Given the description of an element on the screen output the (x, y) to click on. 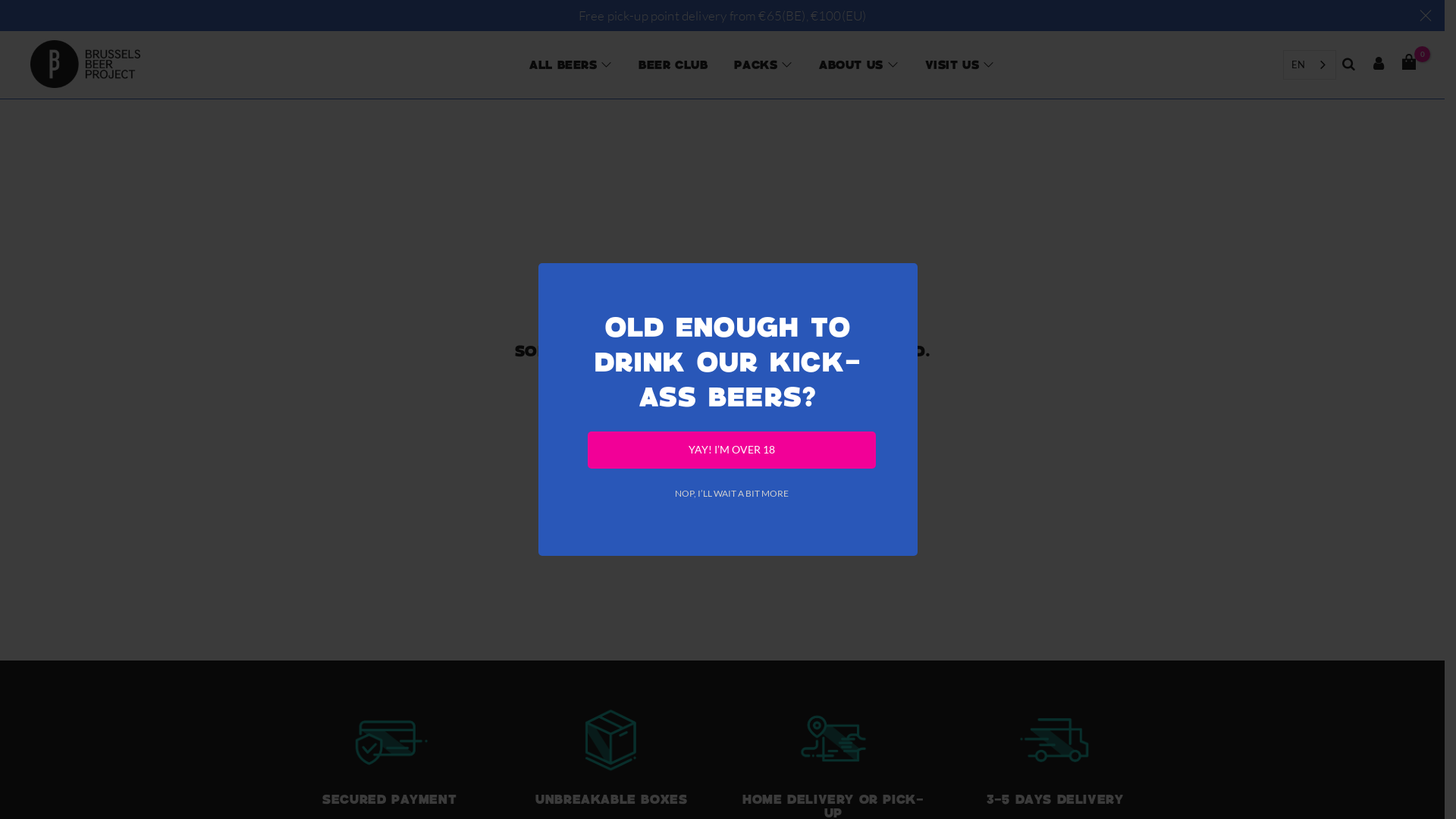
ALL BEERS Element type: text (563, 64)
Packs Element type: text (755, 64)
0 Element type: text (1408, 62)
EN Element type: text (1309, 64)
BEER CLUB Element type: text (673, 64)
VISIT US Element type: text (951, 64)
About us Element type: text (851, 64)
homepage Element type: text (768, 381)
